Given the description of an element on the screen output the (x, y) to click on. 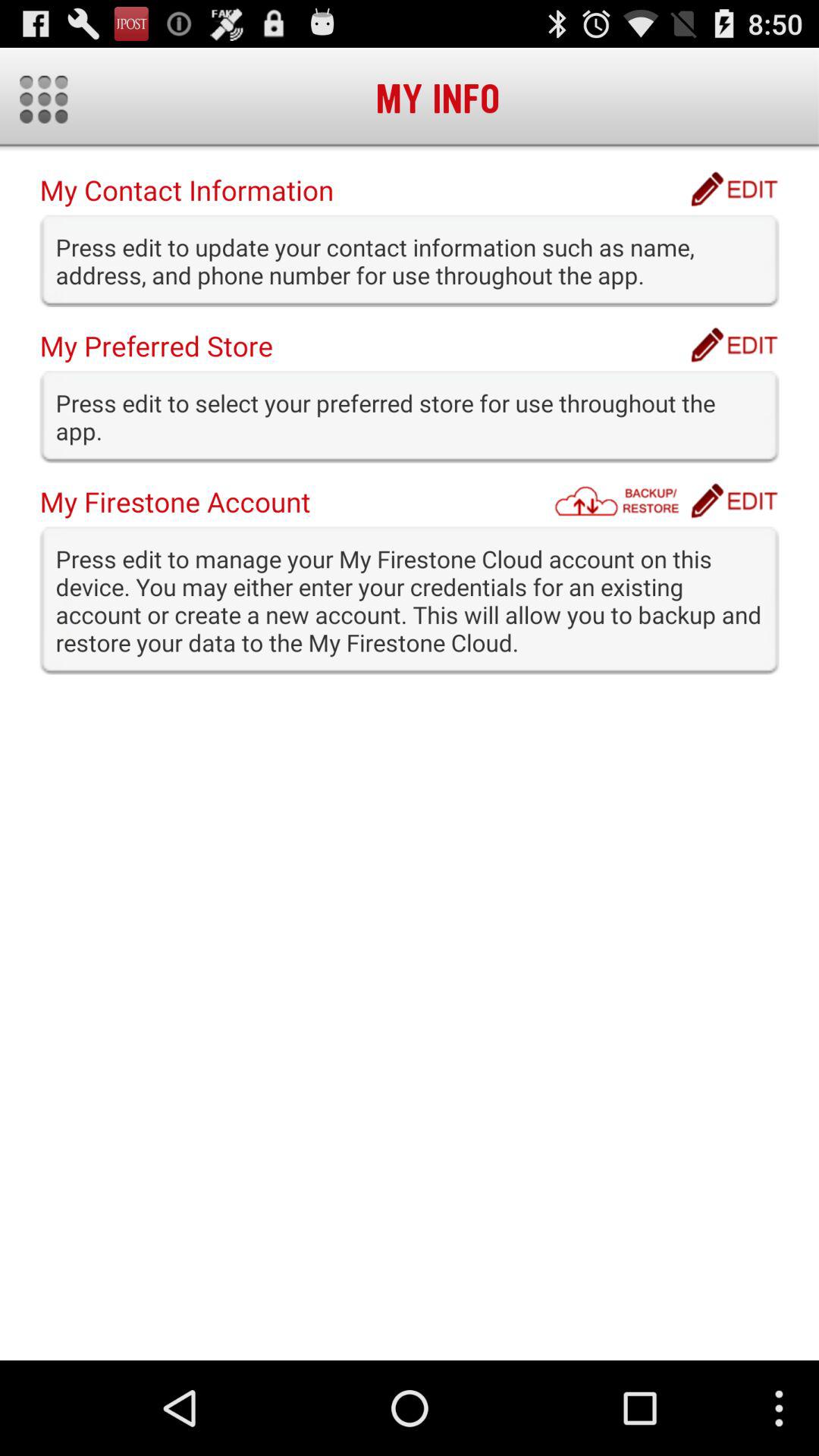
choose the app to the left of the my info icon (43, 99)
